Given the description of an element on the screen output the (x, y) to click on. 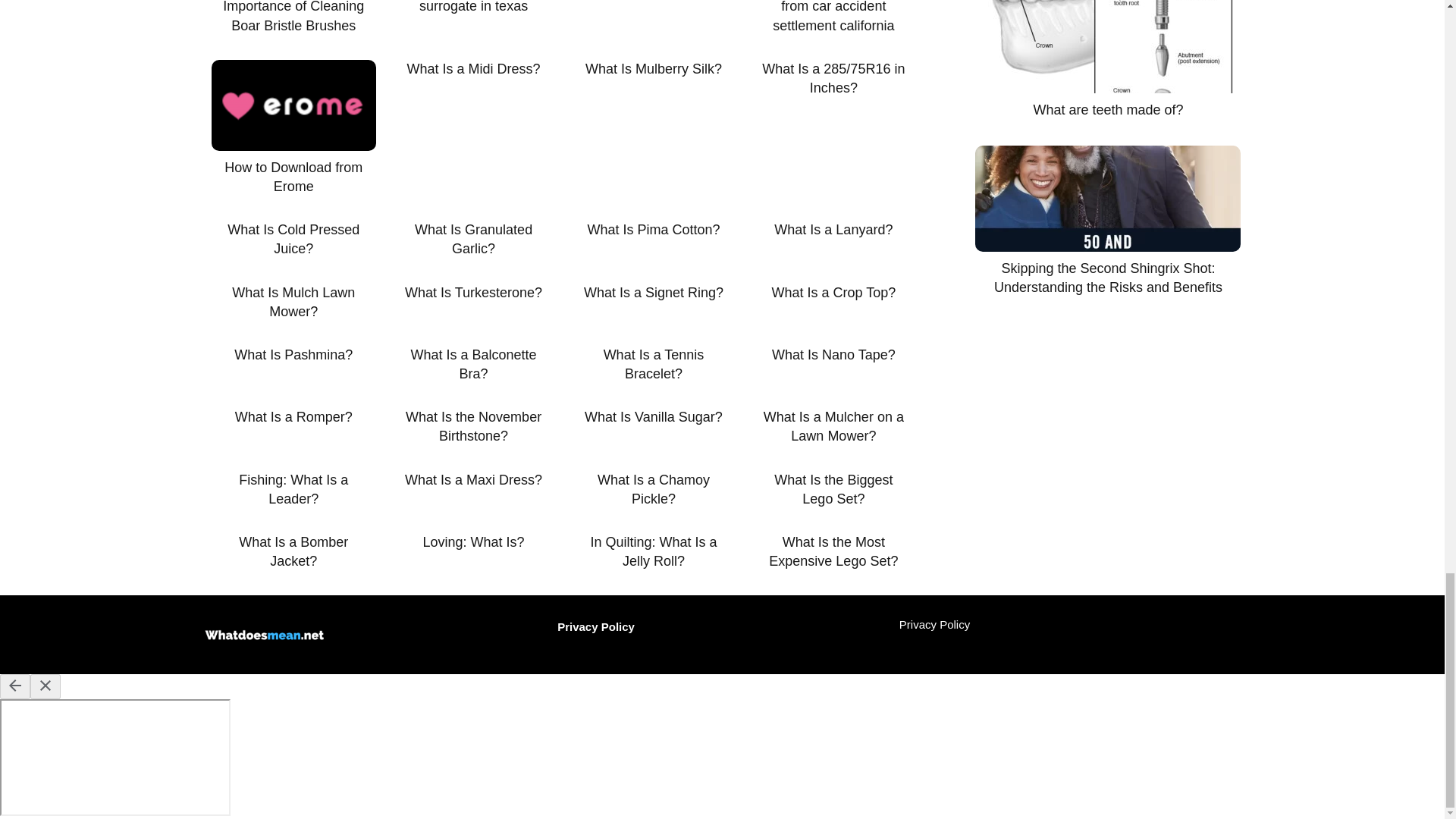
What Is a Crop Top? (833, 292)
How to Download from Erome (293, 127)
What Is Mulberry Silk? (652, 68)
What Is Pima Cotton? (652, 229)
What Is Granulated Garlic? (473, 239)
How to become a surrogate in texas (473, 7)
What Is a Balconette Bra? (473, 364)
What Is Mulch Lawn Mower? (293, 302)
What Is a Tennis Bracelet? (652, 364)
What Is Pashmina? (293, 354)
What Is a Midi Dress? (473, 68)
What Is a Lanyard? (833, 229)
What Is Cold Pressed Juice? (293, 239)
What Is Turkesterone? (473, 292)
